Given the description of an element on the screen output the (x, y) to click on. 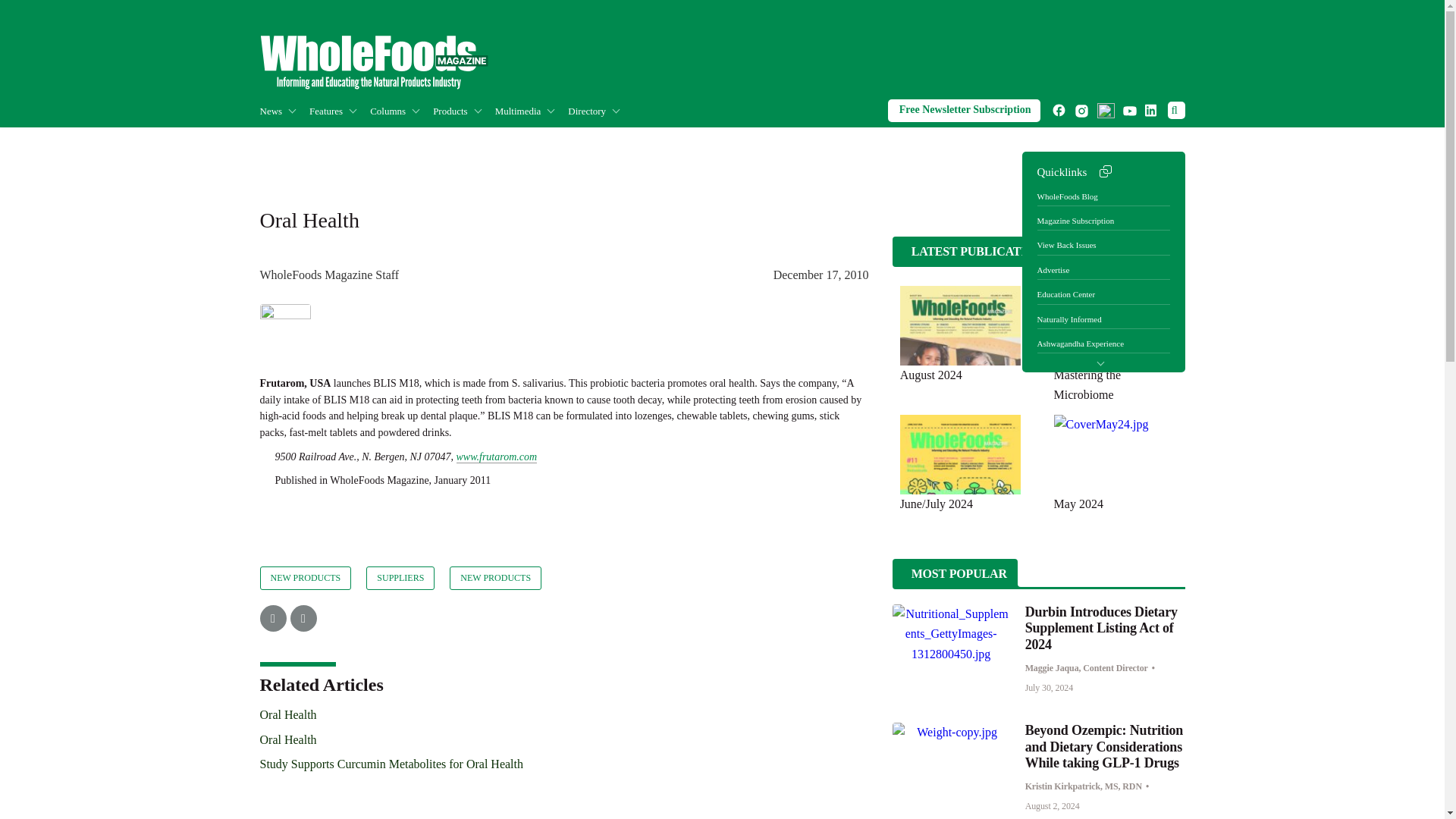
Research (369, 142)
Features (338, 110)
Dietary Supplements News (357, 142)
Editorial (453, 142)
Herb of the Month (467, 142)
In Case You Missed It (342, 142)
Supplier News (361, 142)
Leadership Profiles (471, 142)
Grocery News (353, 142)
News (283, 110)
